Given the description of an element on the screen output the (x, y) to click on. 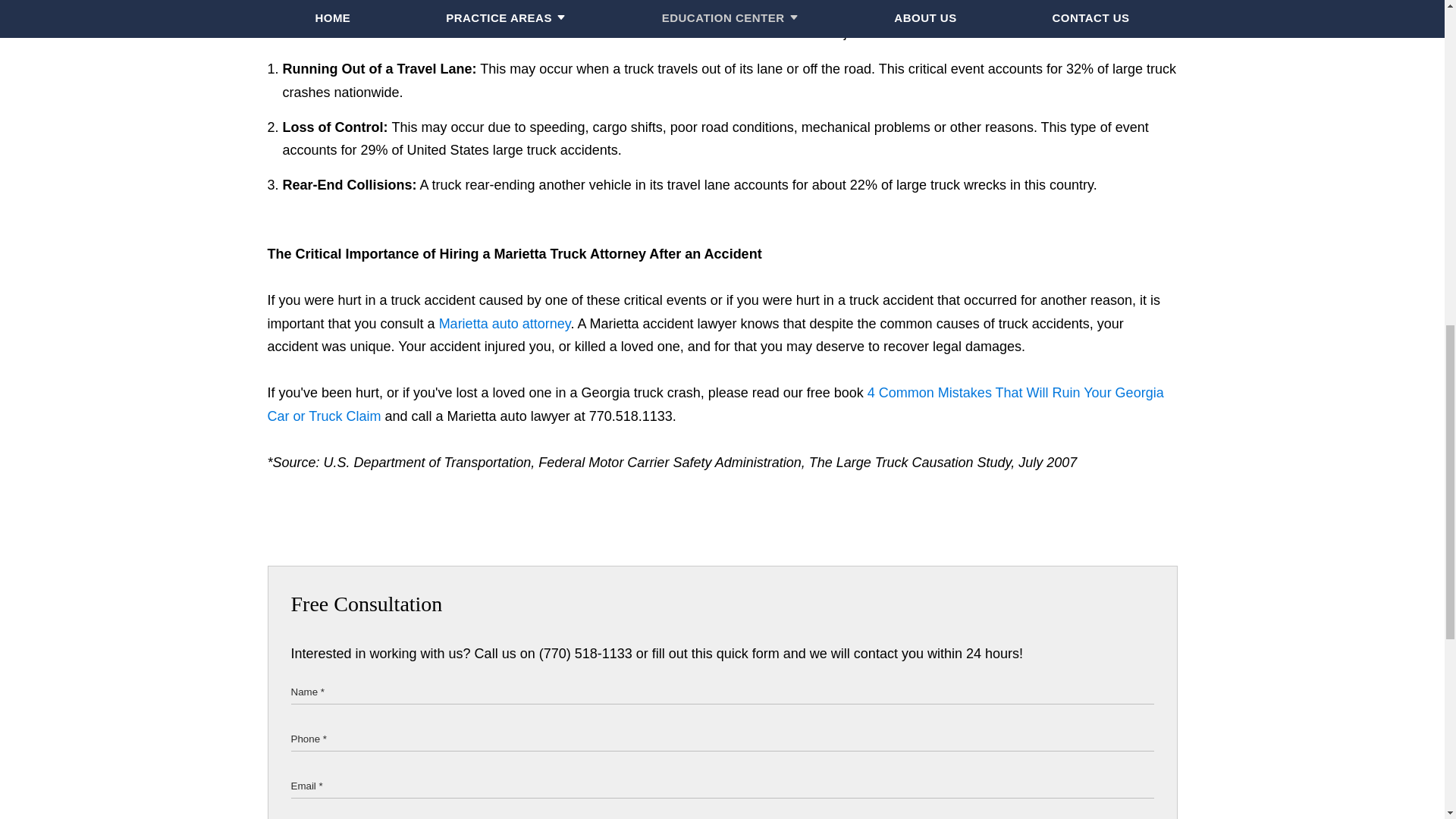
Marietta auto attorney (504, 323)
